Given the description of an element on the screen output the (x, y) to click on. 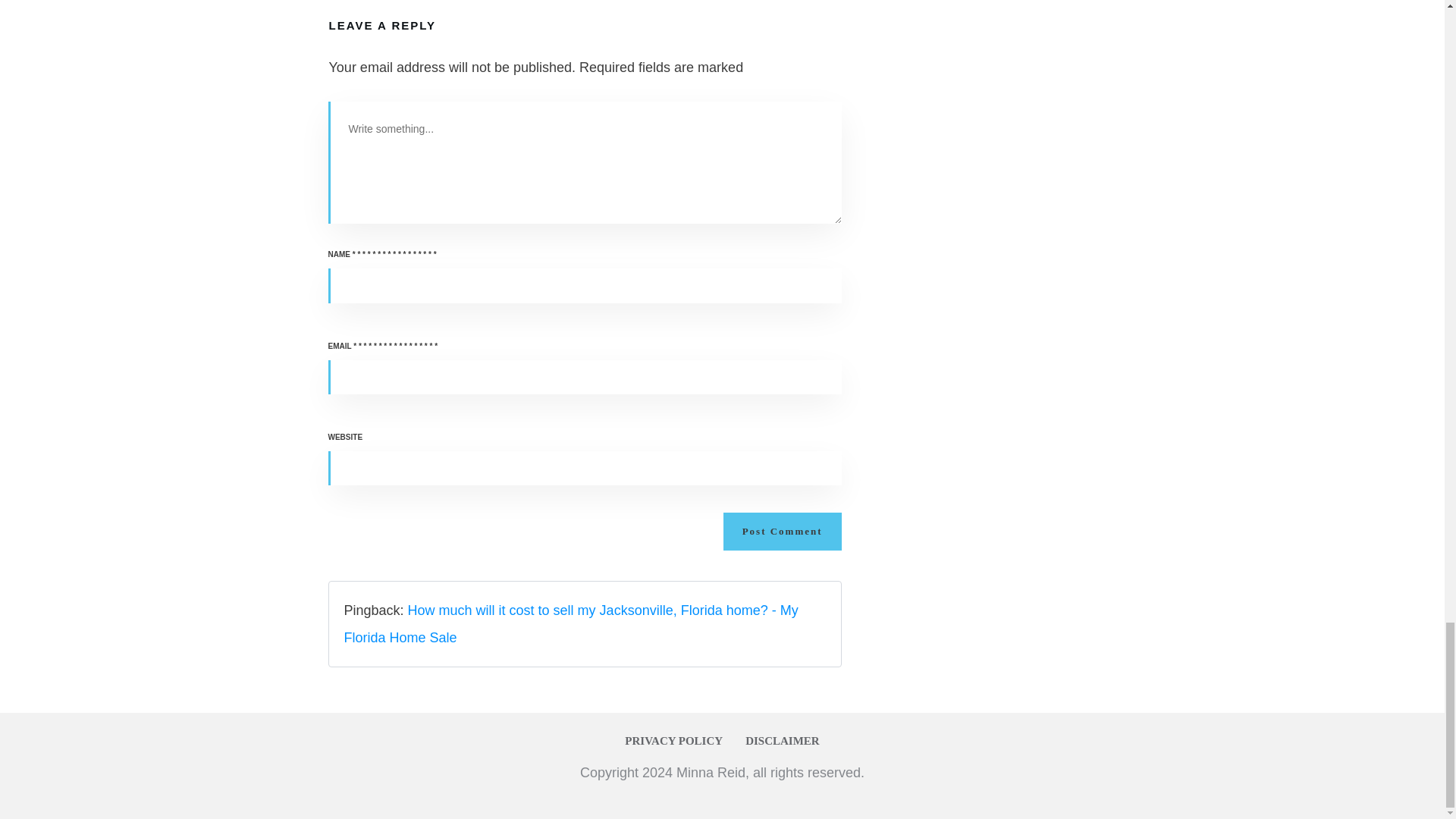
Post Comment (782, 531)
